Given the description of an element on the screen output the (x, y) to click on. 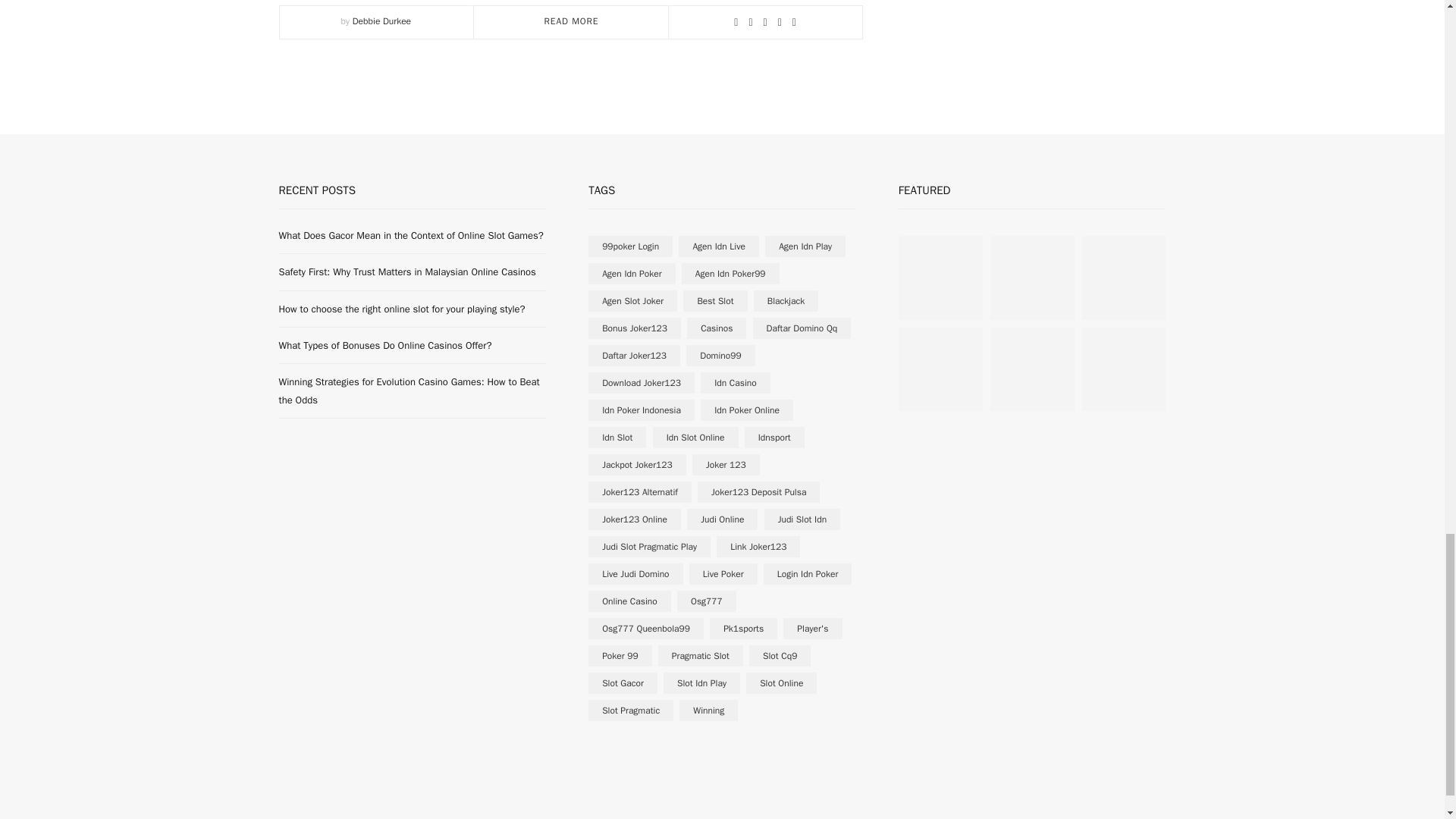
READ MORE (571, 21)
Posts by Debbie Durkee (381, 21)
Debbie Durkee (381, 21)
